Given the description of an element on the screen output the (x, y) to click on. 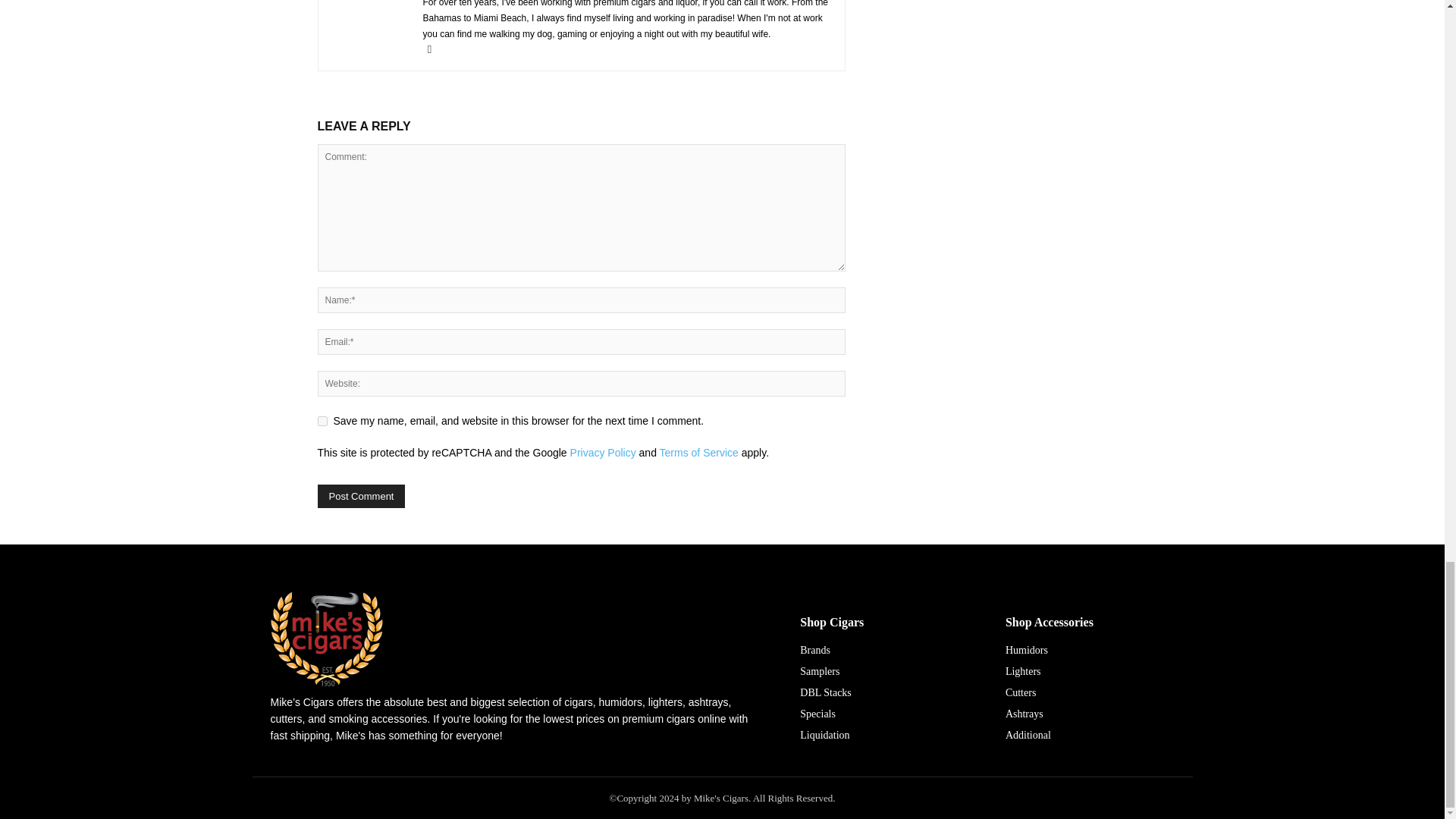
yes (321, 420)
Post Comment (360, 495)
